Given the description of an element on the screen output the (x, y) to click on. 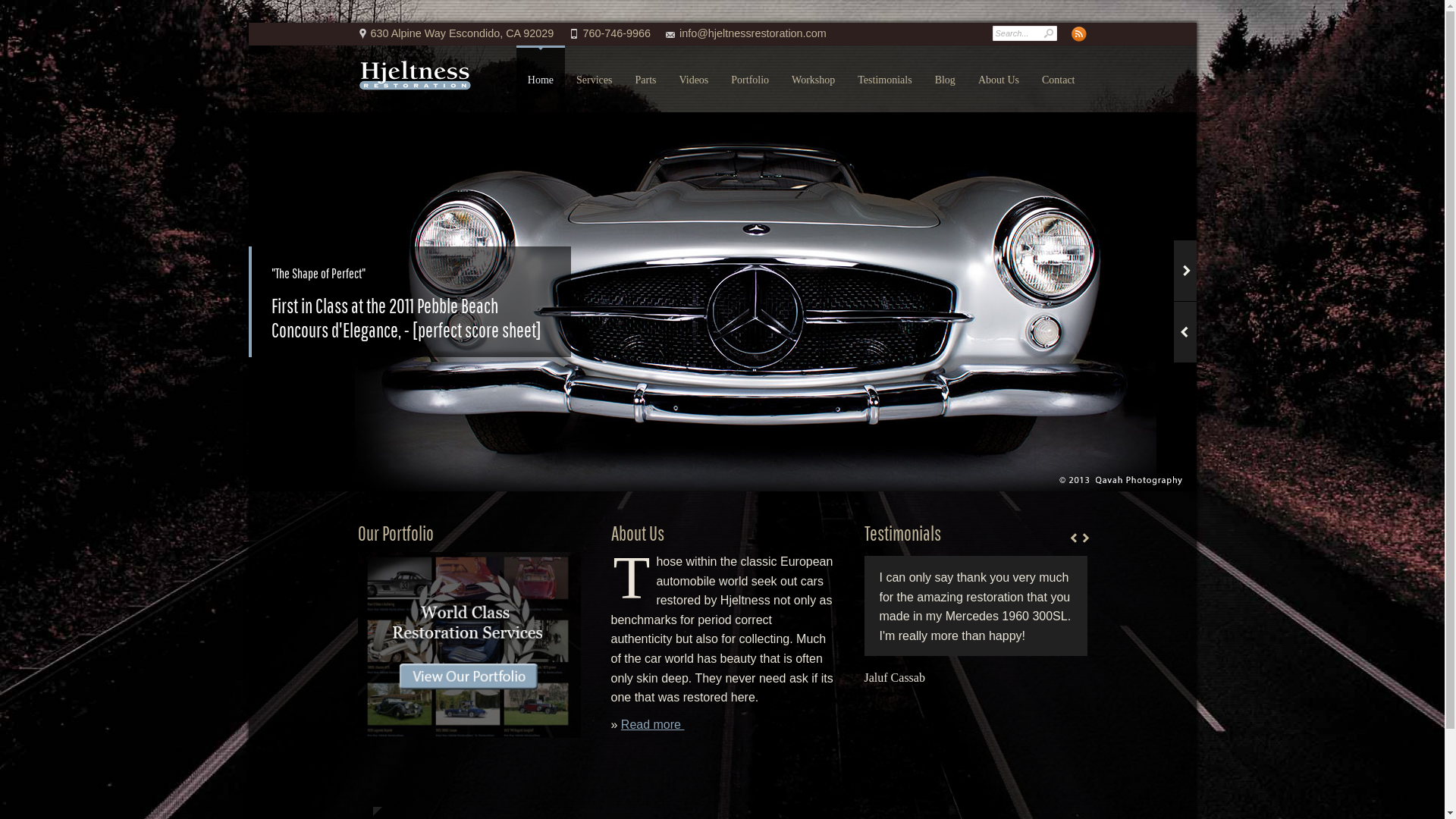
Portfolio Element type: text (749, 79)
Home Element type: text (540, 79)
Blog Element type: text (944, 79)
Workshop Element type: text (813, 79)
Testimonials Element type: text (884, 79)
Read more  Element type: text (652, 724)
About Us Element type: text (998, 79)
Visit Our Portfolio Element type: hover (468, 644)
Videos Element type: text (693, 79)
Contact Element type: text (1058, 79)
Services Element type: text (593, 79)
Parts Element type: text (645, 79)
